Given the description of an element on the screen output the (x, y) to click on. 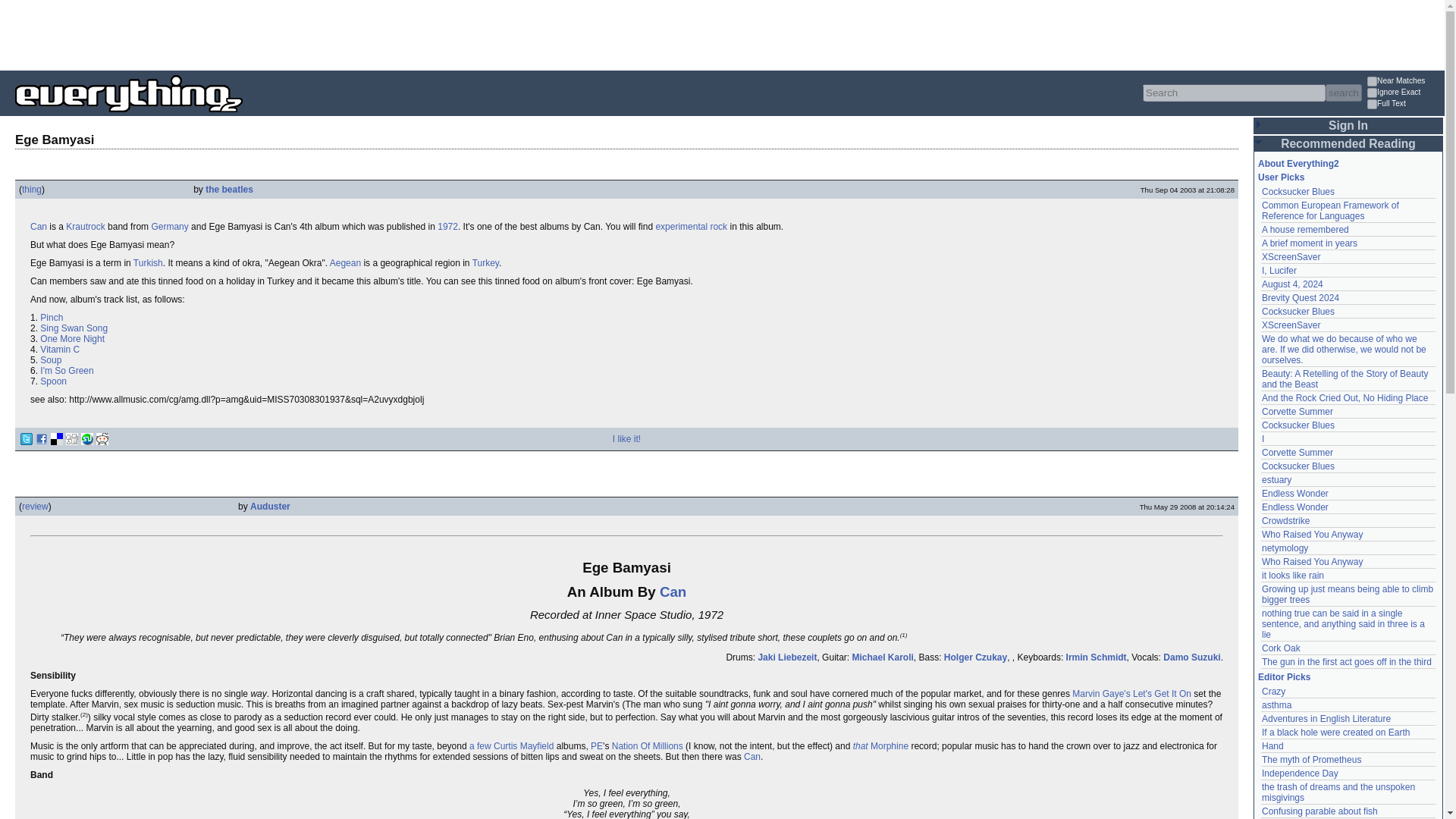
Marvin Gaye's (1100, 693)
I'm So Green (66, 370)
Let's Get It On (1161, 693)
One More Night (72, 338)
Search for text within writeups (1404, 104)
Advertisement (275, 33)
Sep 04 2003 at 21:08:28 (1187, 189)
Vitamin C (60, 348)
Can (38, 226)
search (1342, 92)
